Given the description of an element on the screen output the (x, y) to click on. 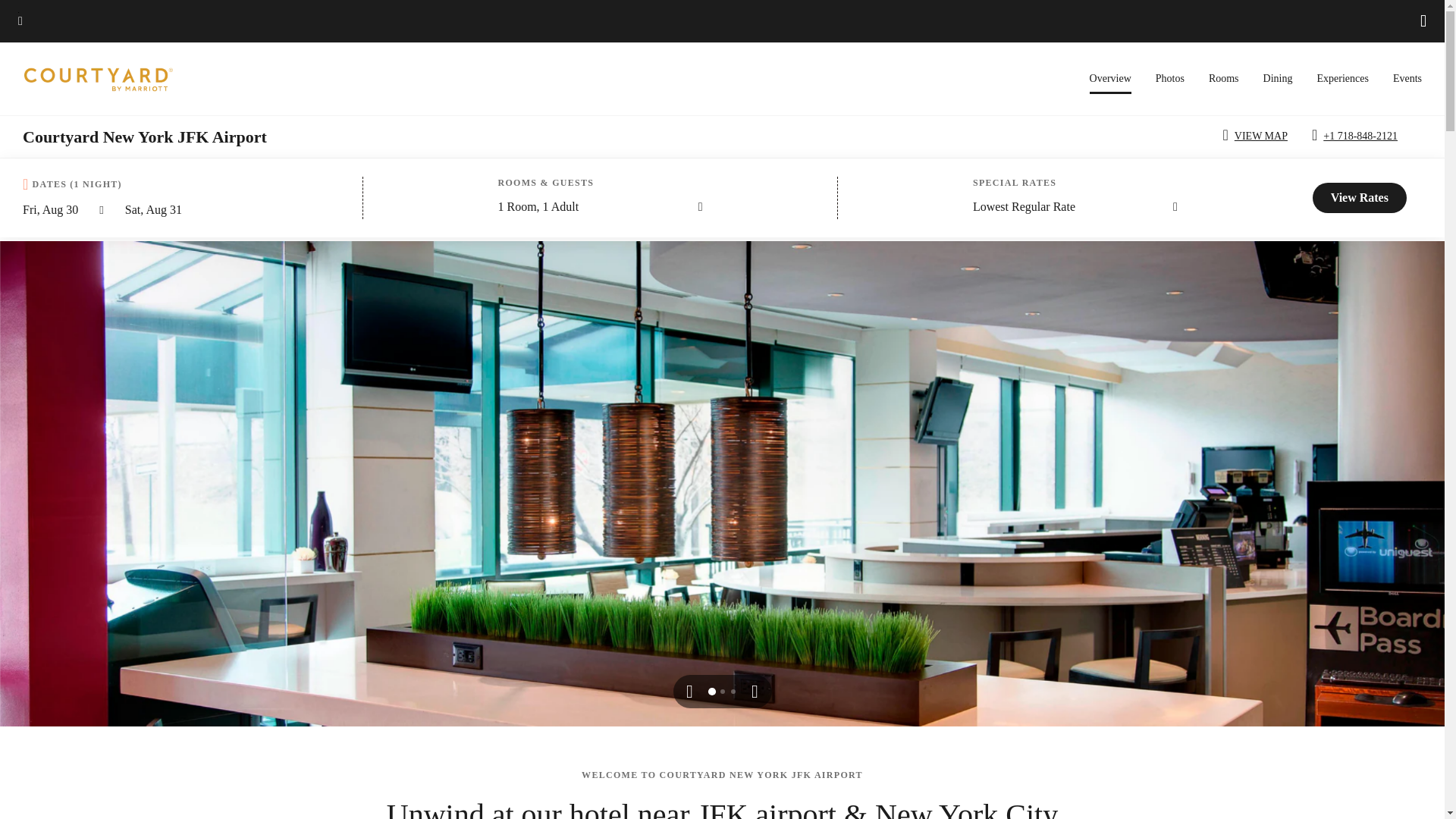
Overview (1110, 83)
Photos (1170, 78)
Dining (1277, 78)
VIEW MAP (1257, 136)
Events (1407, 78)
Experiences (1342, 78)
Rooms (1223, 78)
